Given the description of an element on the screen output the (x, y) to click on. 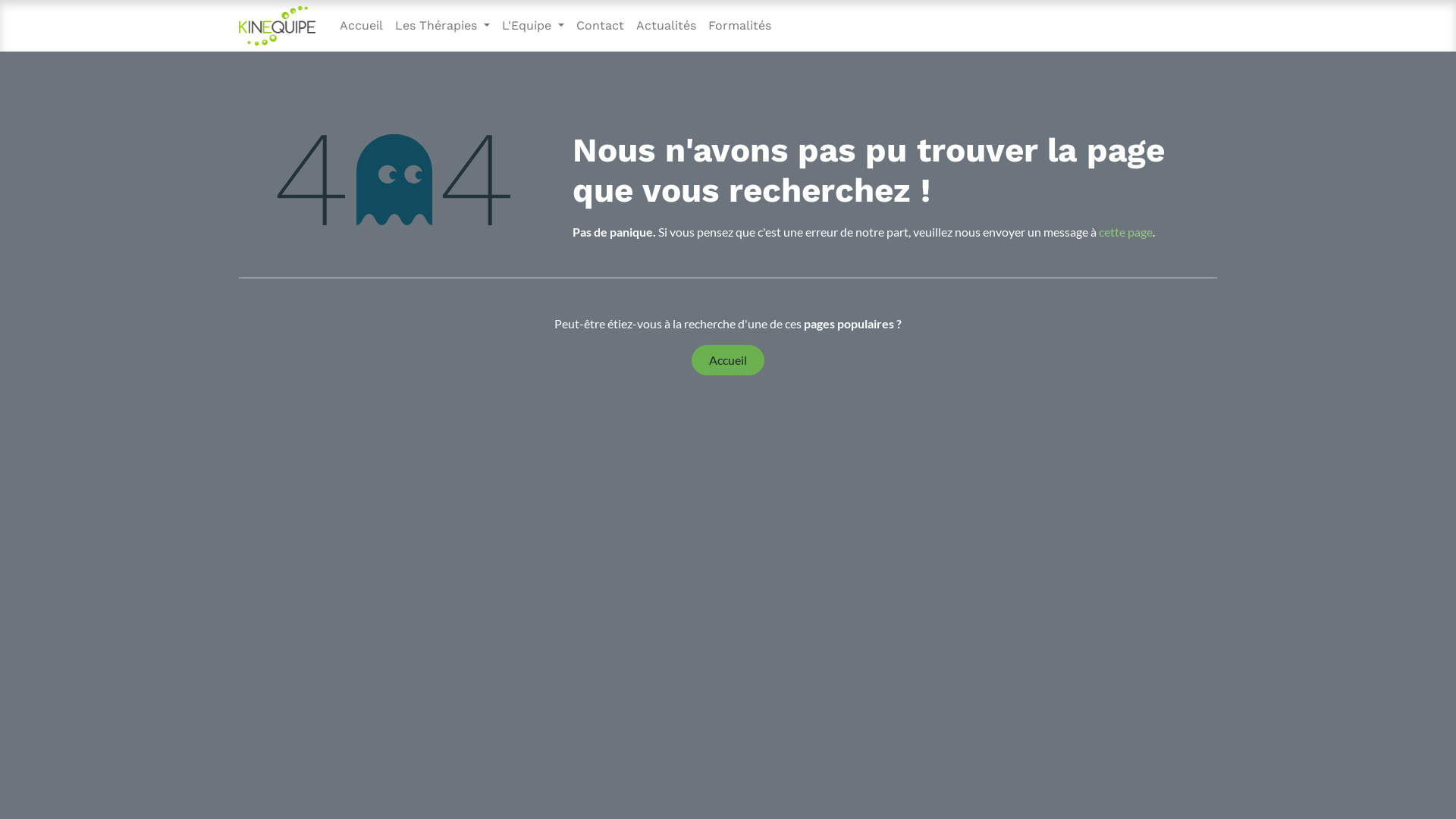
Accueil Element type: text (361, 25)
Accueil Element type: text (727, 360)
L'Equipe Element type: text (532, 25)
Contact Element type: text (600, 25)
cette page Element type: text (1125, 231)
